Given the description of an element on the screen output the (x, y) to click on. 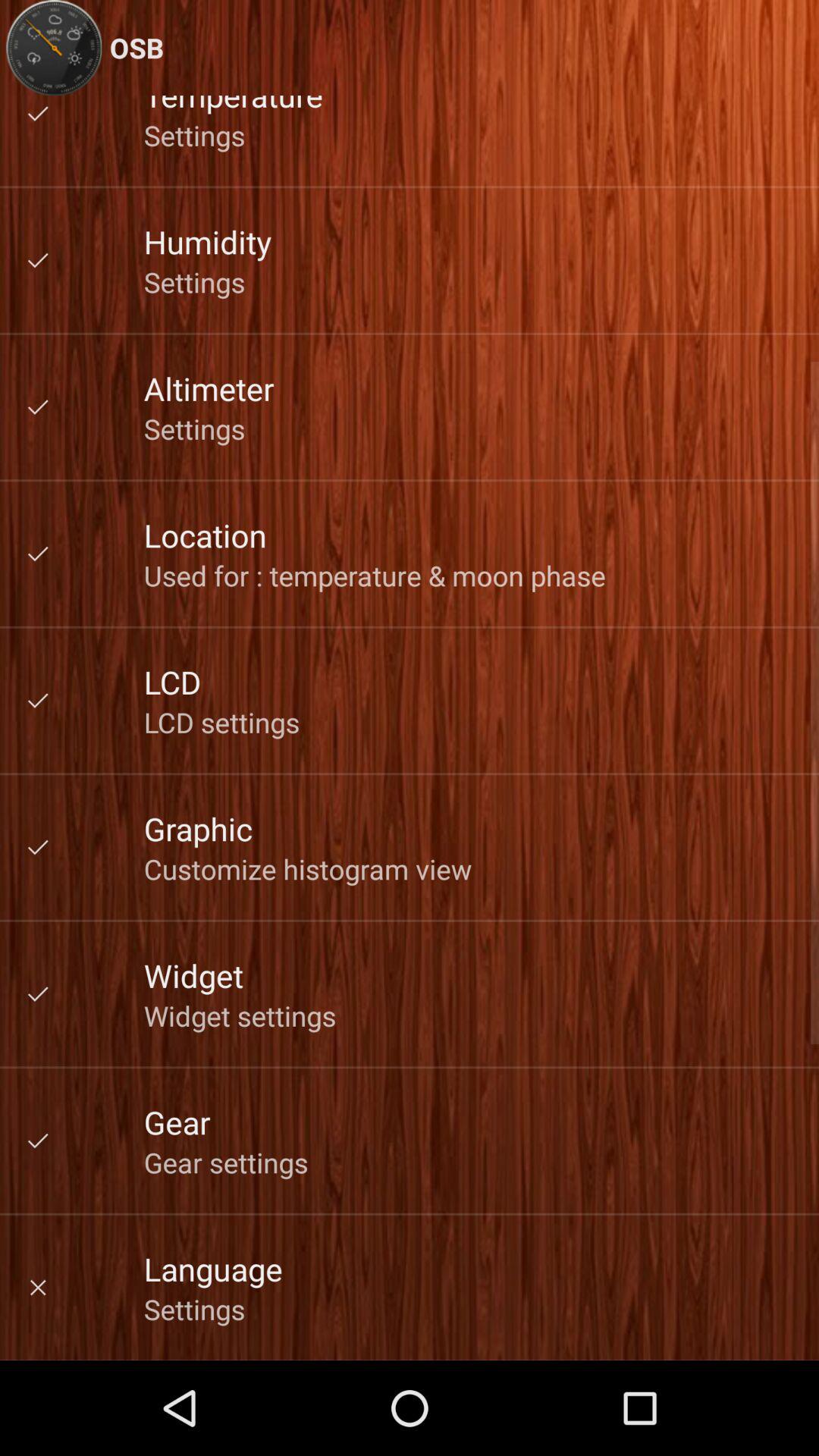
select the cross mark below the page (37, 1287)
